Given the description of an element on the screen output the (x, y) to click on. 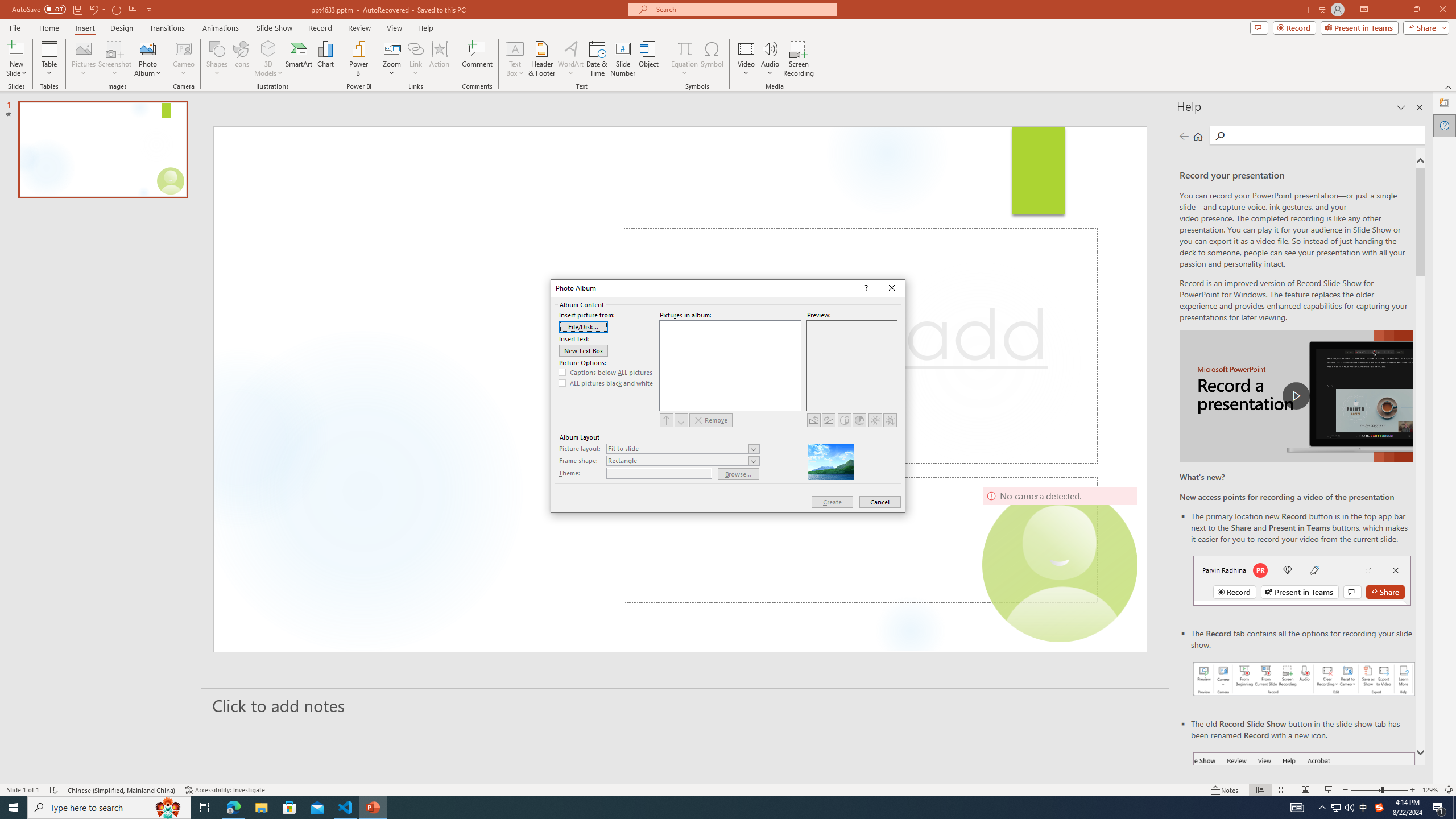
Link (415, 58)
Zoom 129% (1430, 790)
Type here to search (108, 807)
New Text Box (583, 350)
File/Disk... (583, 326)
